Given the description of an element on the screen output the (x, y) to click on. 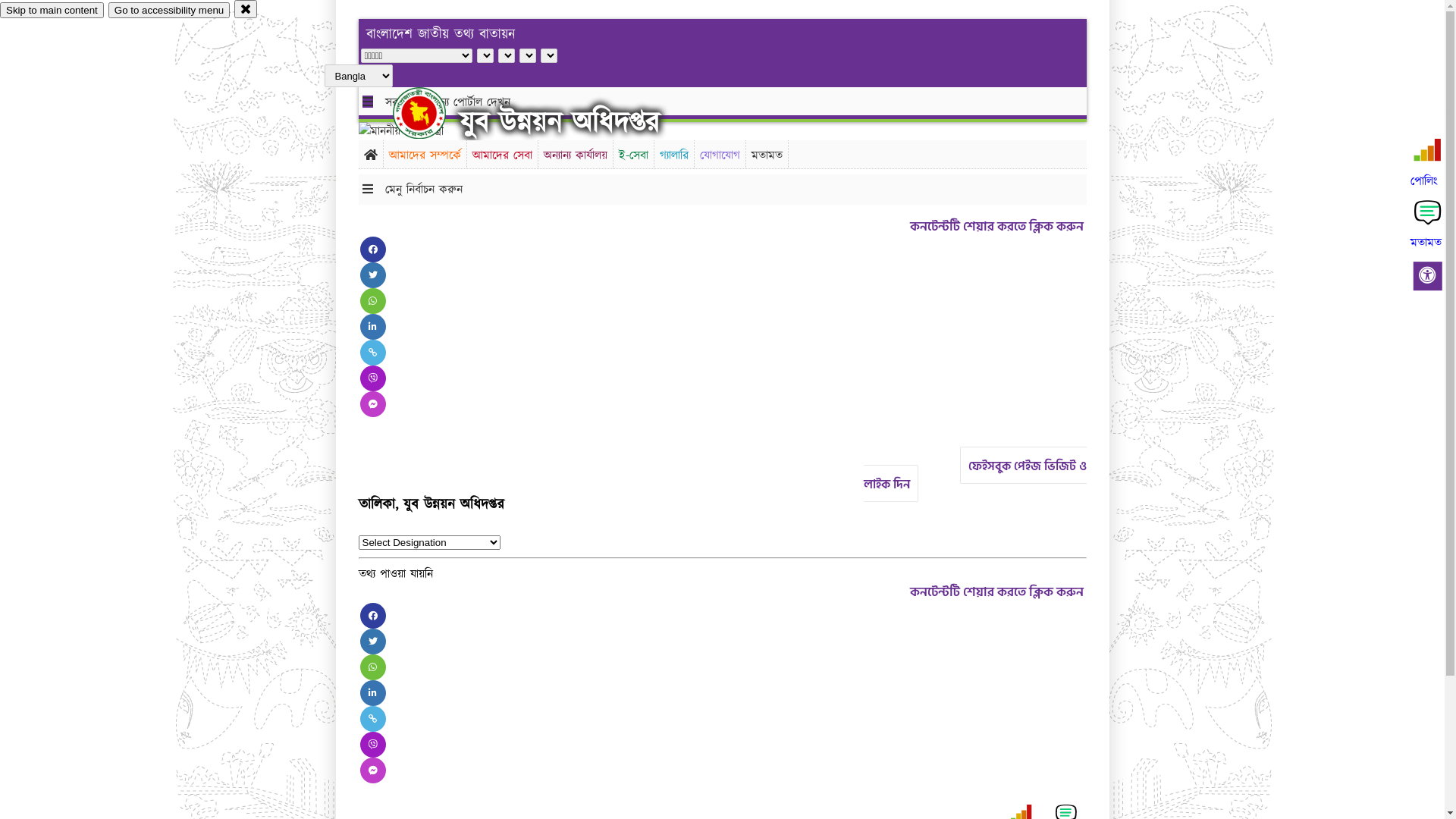
Skip to main content Element type: text (51, 10)
close Element type: hover (245, 9)
Go to accessibility menu Element type: text (168, 10)

                
             Element type: hover (431, 112)
